Given the description of an element on the screen output the (x, y) to click on. 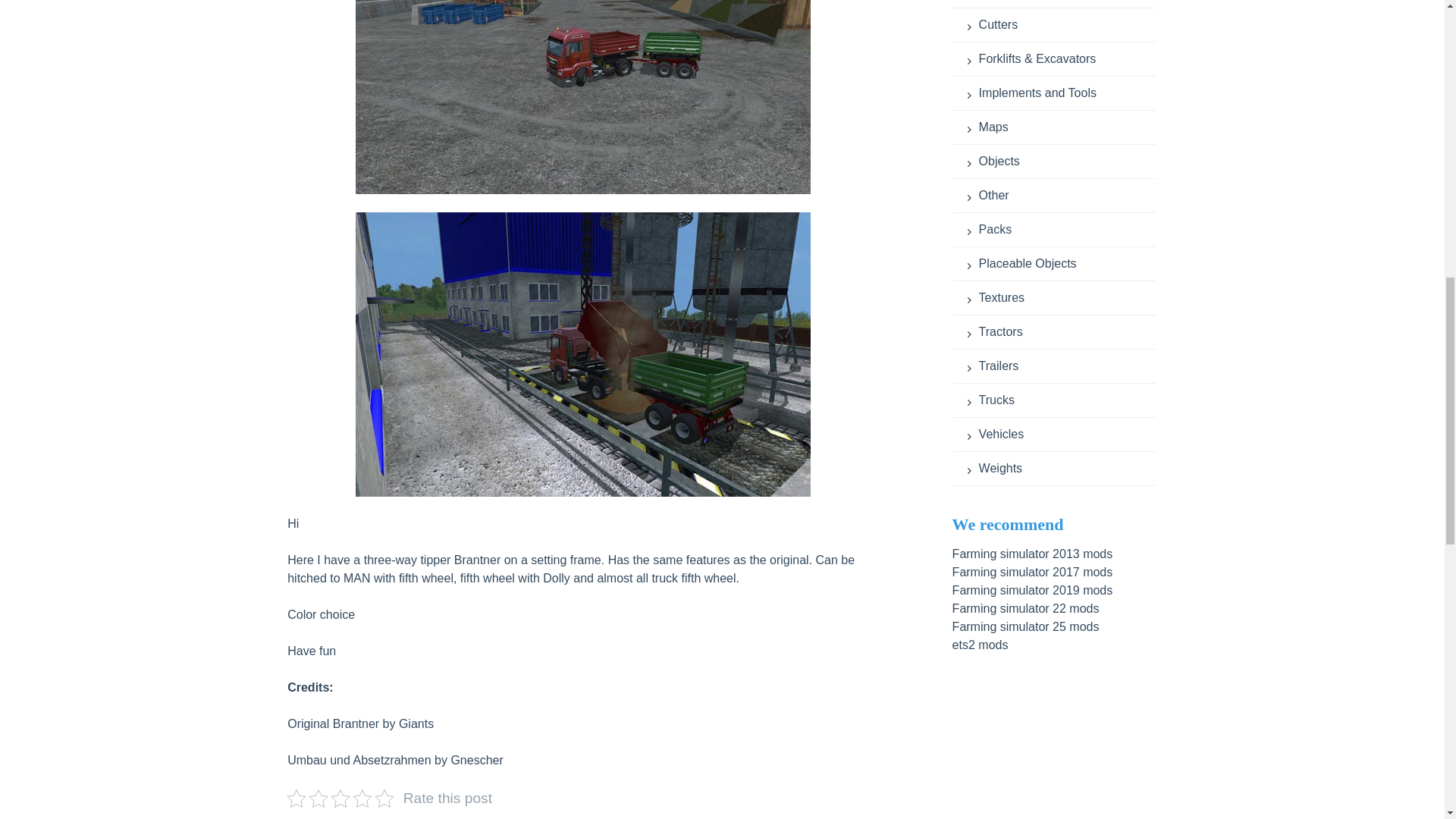
Maps (988, 126)
Implements and Tools (1032, 92)
Cutters (992, 24)
